Given the description of an element on the screen output the (x, y) to click on. 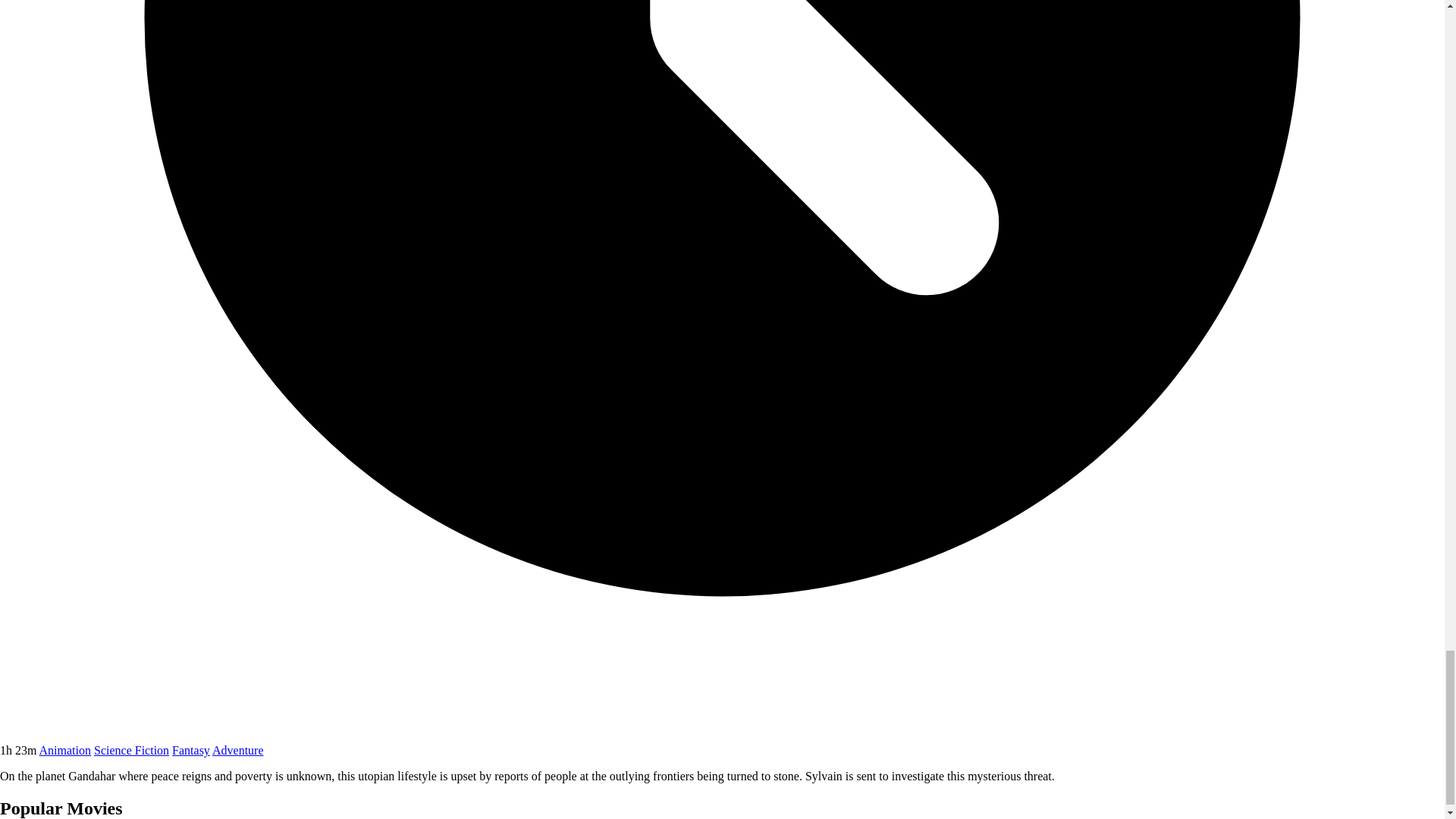
Animation (64, 749)
Science Fiction (131, 749)
Adventure (237, 749)
Fantasy (190, 749)
